Given the description of an element on the screen output the (x, y) to click on. 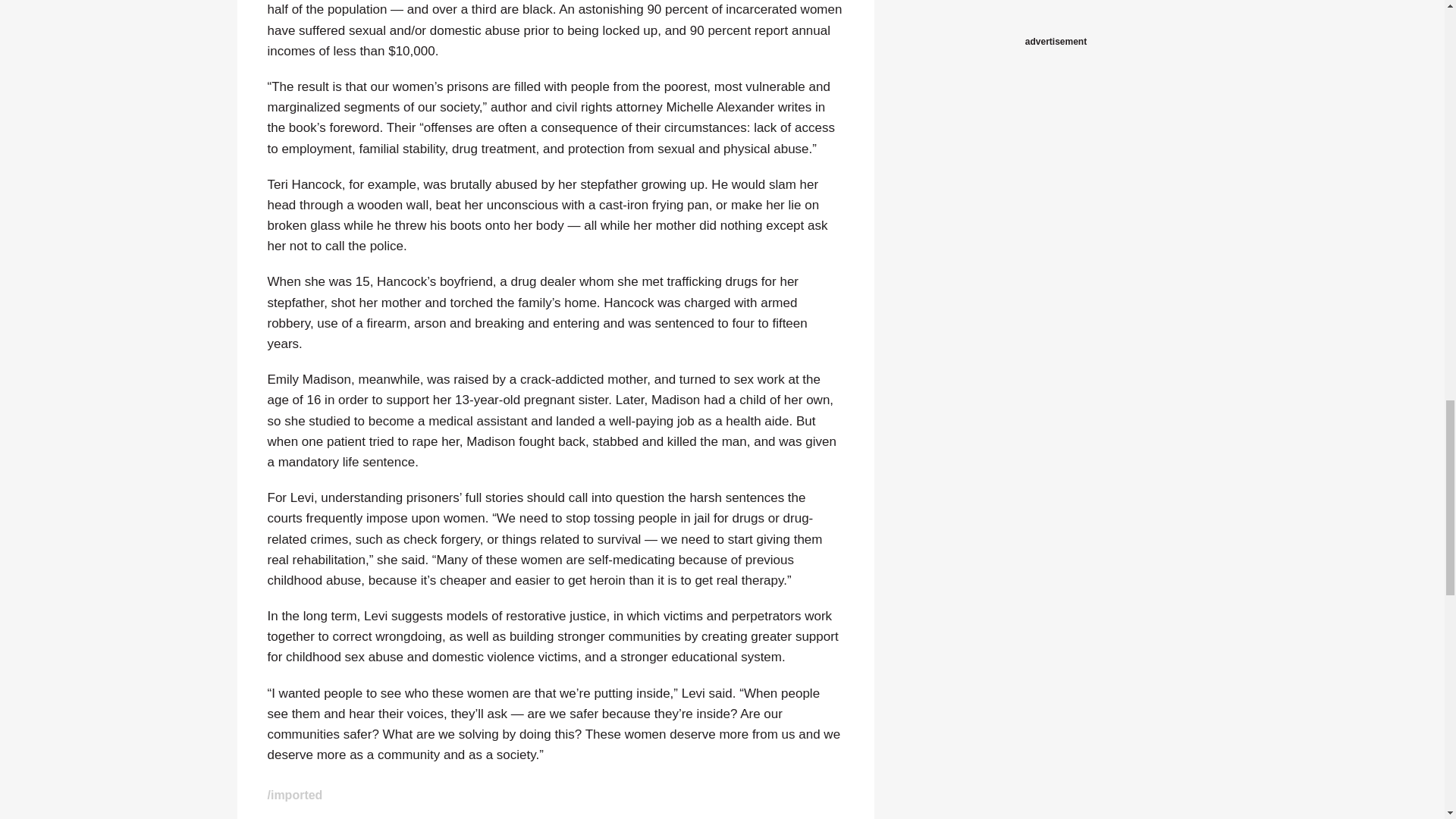
3rd party ad content (1055, 16)
